Given the description of an element on the screen output the (x, y) to click on. 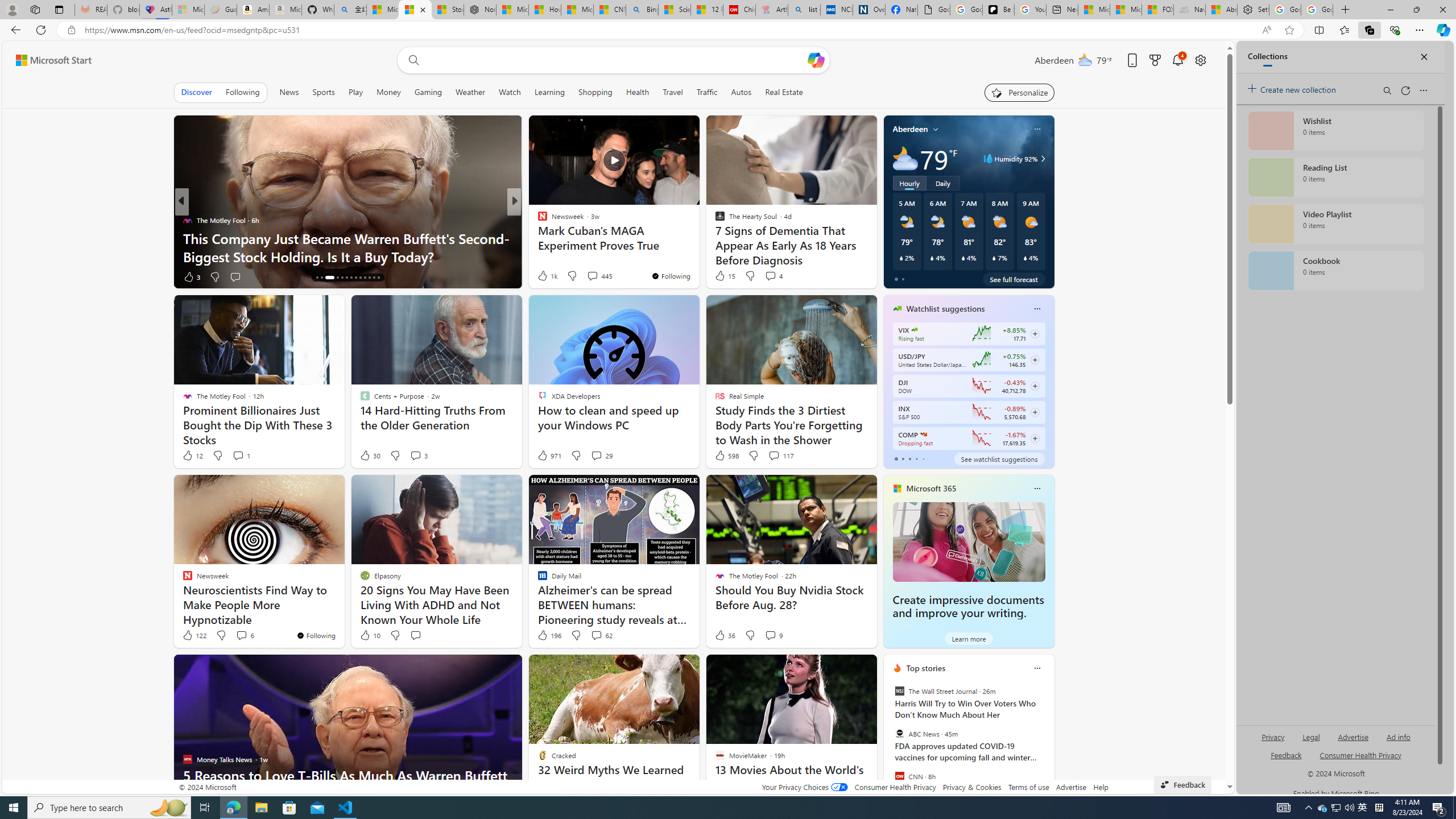
Shopping (595, 92)
FOX News - MSN (1157, 9)
